Given the description of an element on the screen output the (x, y) to click on. 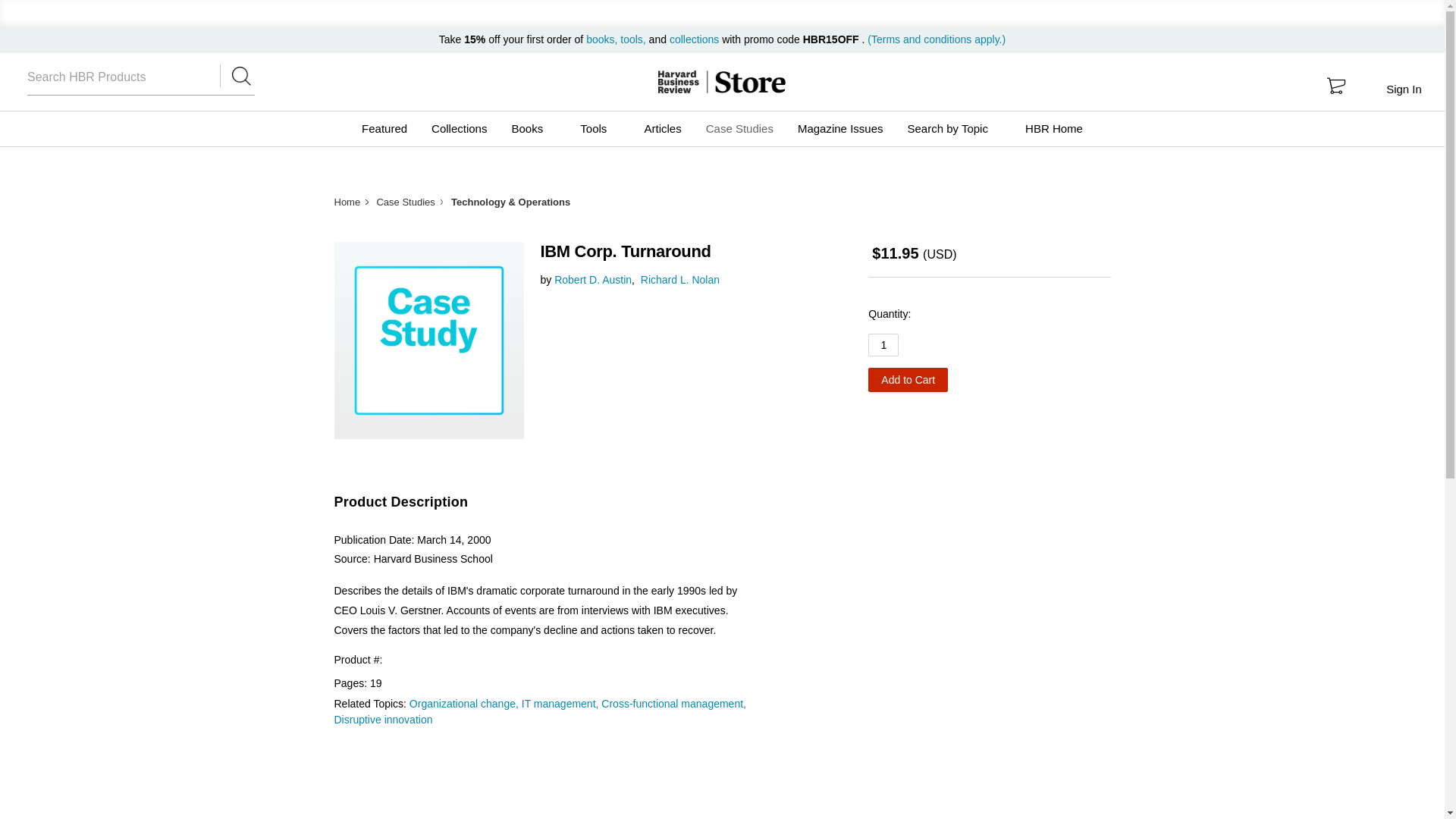
Tools (599, 128)
1 (882, 344)
Sign In (1403, 88)
HBR.ORG - Prod (678, 81)
Add to Cart (907, 379)
Featured (384, 128)
collections (694, 39)
tools, (632, 39)
books, (603, 39)
Books (533, 128)
